Given the description of an element on the screen output the (x, y) to click on. 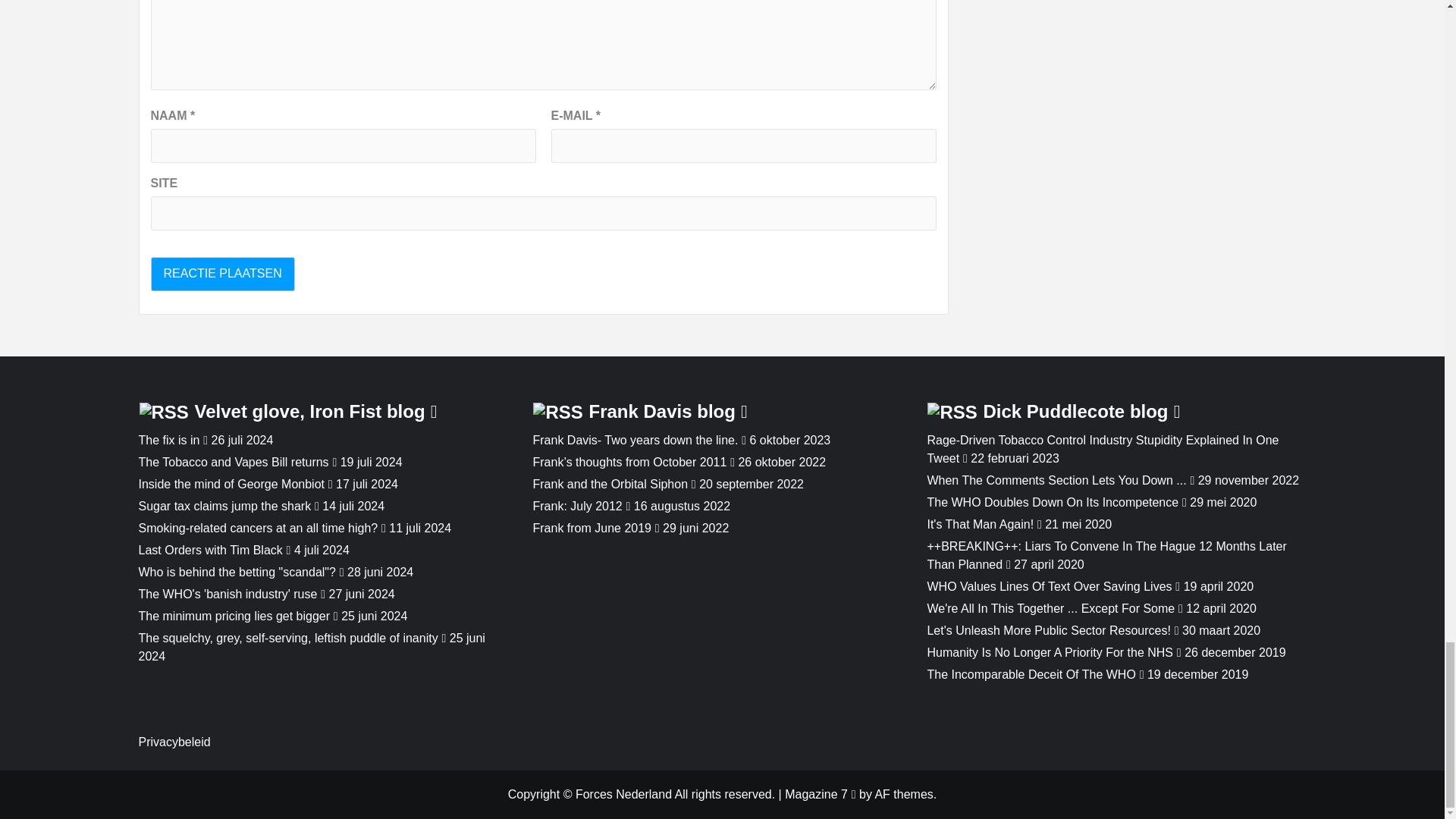
Reactie plaatsen (221, 274)
Reactie plaatsen (221, 274)
